Given the description of an element on the screen output the (x, y) to click on. 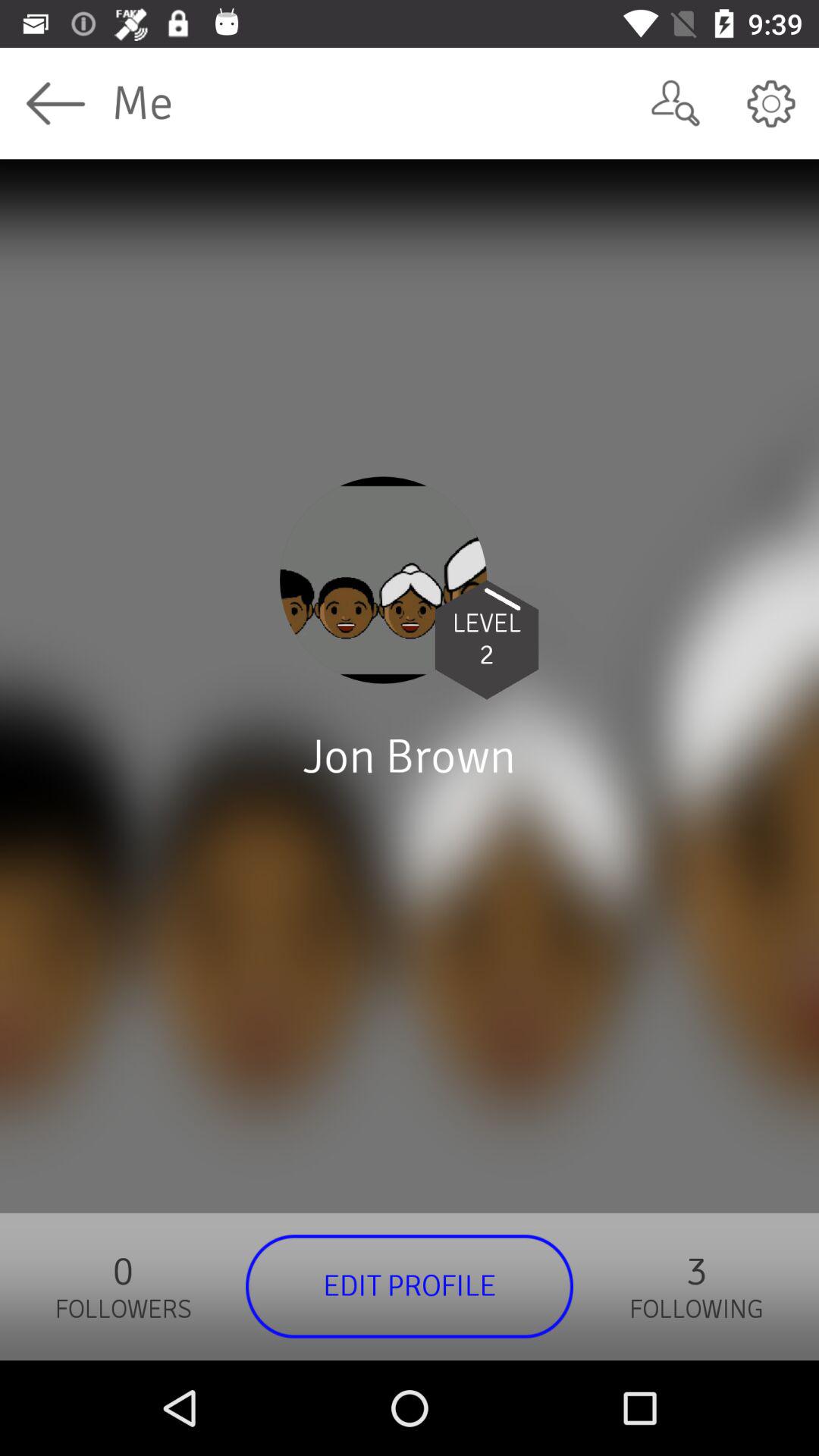
choose the item to the right of me (675, 103)
